Given the description of an element on the screen output the (x, y) to click on. 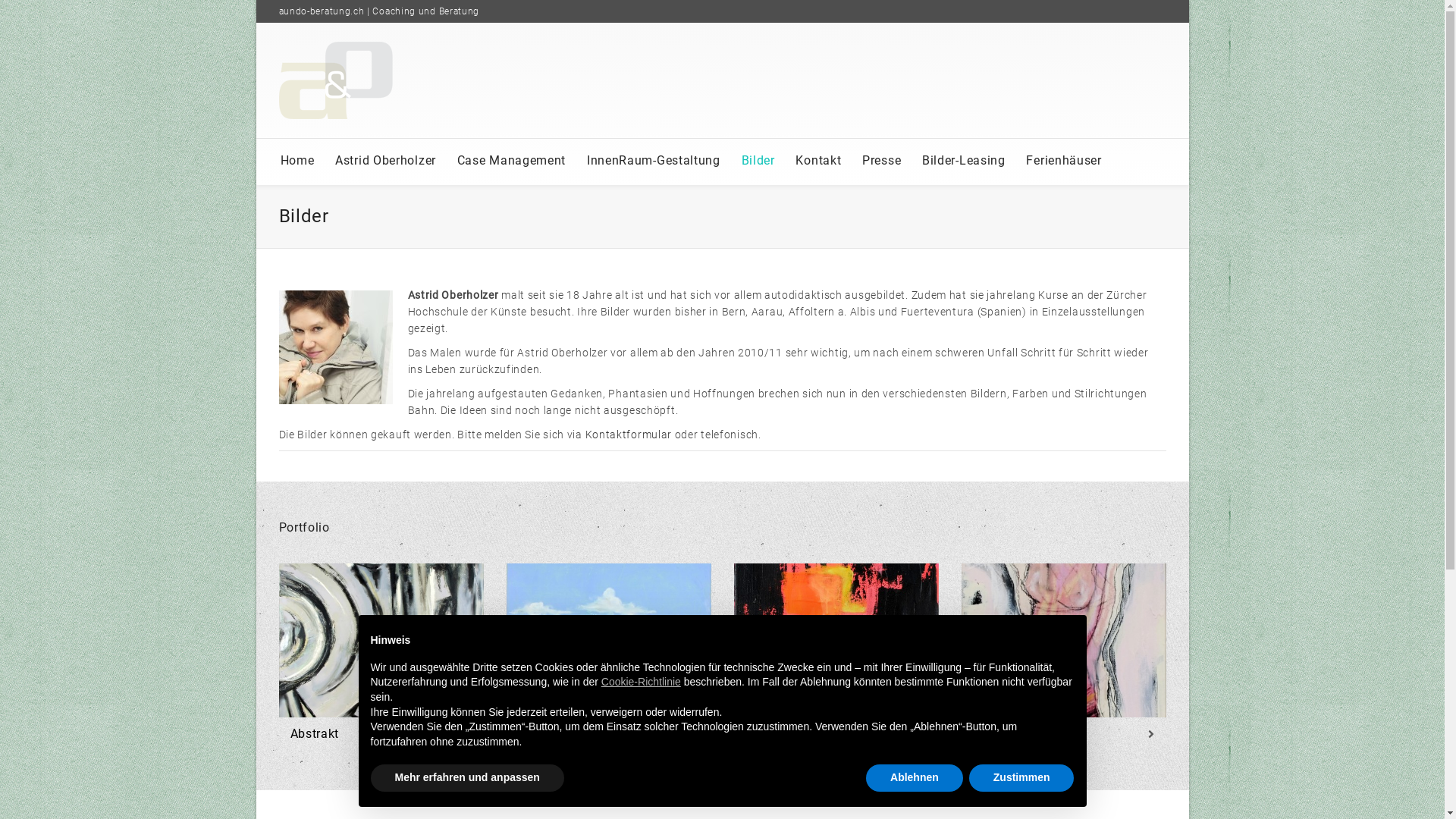
Home Element type: text (297, 160)
Cookie-Richtlinie Element type: text (640, 681)
Case Management Element type: text (511, 160)
Kontakt Element type: text (818, 160)
Bilder-Leasing Element type: text (963, 160)
Astrid Oberholzer Element type: text (385, 160)
Zustimmen Element type: text (1021, 777)
InnenRaum-Gestaltung Element type: text (653, 160)
Mehr erfahren und anpassen Element type: text (466, 777)
Abstrakt Element type: text (380, 733)
Kontaktformular Element type: text (629, 434)
Menschen Element type: text (1063, 733)
Farbiges Grossformat Element type: text (608, 733)
Presse Element type: text (881, 160)
Bilder Element type: text (758, 160)
Ablehnen Element type: text (914, 777)
Farbiges Kleinformat Element type: text (835, 733)
